Given the description of an element on the screen output the (x, y) to click on. 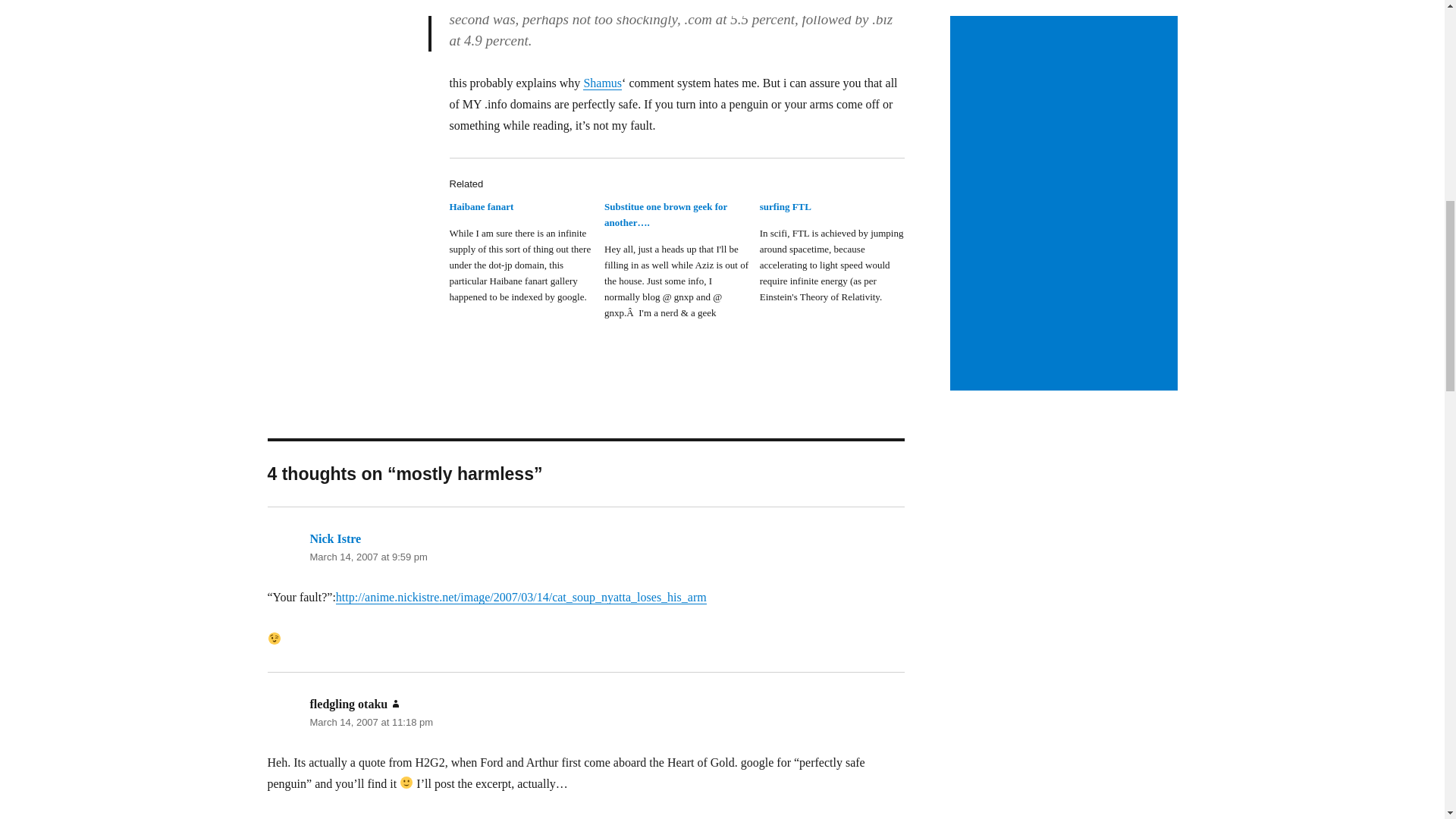
Comics (977, 808)
March 14, 2007 at 11:59 pm (370, 772)
Anime (975, 776)
March 14, 2007 at 11:32 pm (370, 564)
March 14, 2007 at 11:18 pm (370, 336)
Art (968, 792)
March 14, 2007 at 9:59 pm (367, 170)
Nick Istre (334, 546)
Nick Istre (334, 152)
